Given the description of an element on the screen output the (x, y) to click on. 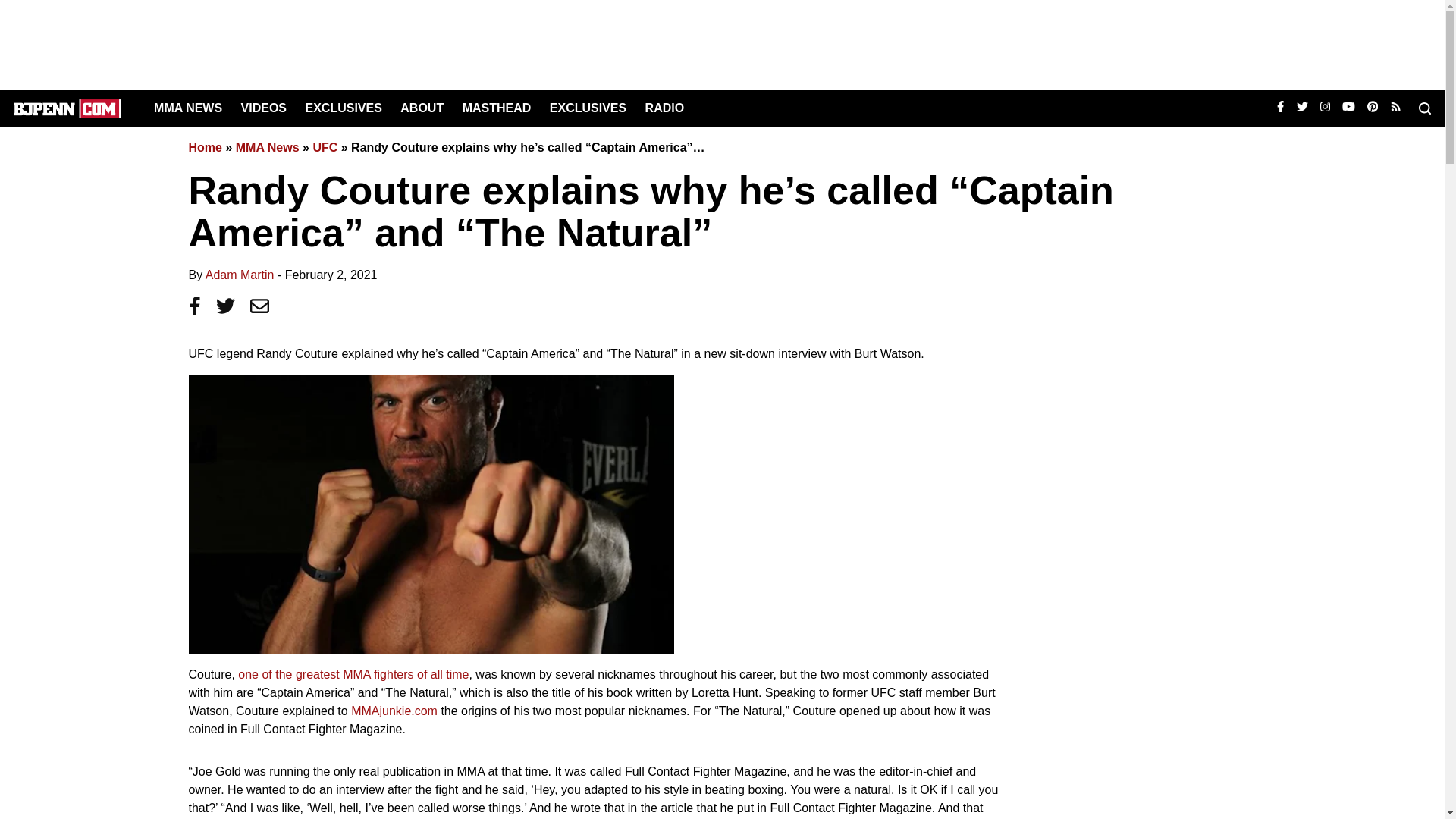
MMA NEWS (188, 107)
EXCLUSIVES (588, 107)
MASTHEAD (497, 107)
RADIO (664, 107)
ABOUT (422, 107)
EXCLUSIVES (342, 107)
VIDEOS (263, 107)
